Given the description of an element on the screen output the (x, y) to click on. 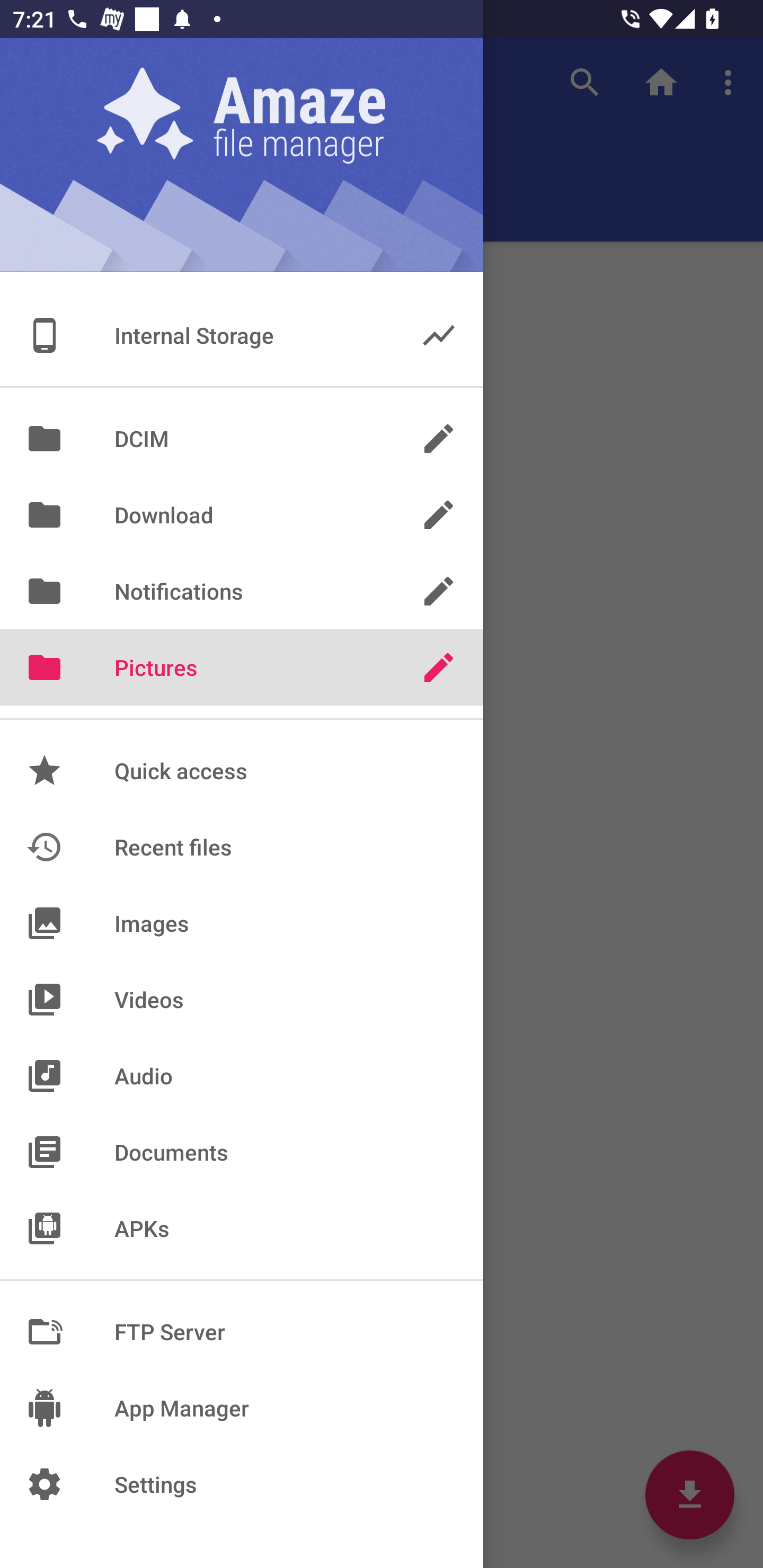
Internal Storage (241, 335)
DCIM (241, 437)
Download (241, 514)
Notifications (241, 590)
Pictures (241, 666)
Quick access (241, 770)
Recent files (241, 847)
Images (241, 923)
Videos (241, 999)
Audio (241, 1075)
Documents (241, 1151)
APKs (241, 1228)
FTP Server (241, 1331)
App Manager (241, 1407)
Settings (241, 1483)
